Given the description of an element on the screen output the (x, y) to click on. 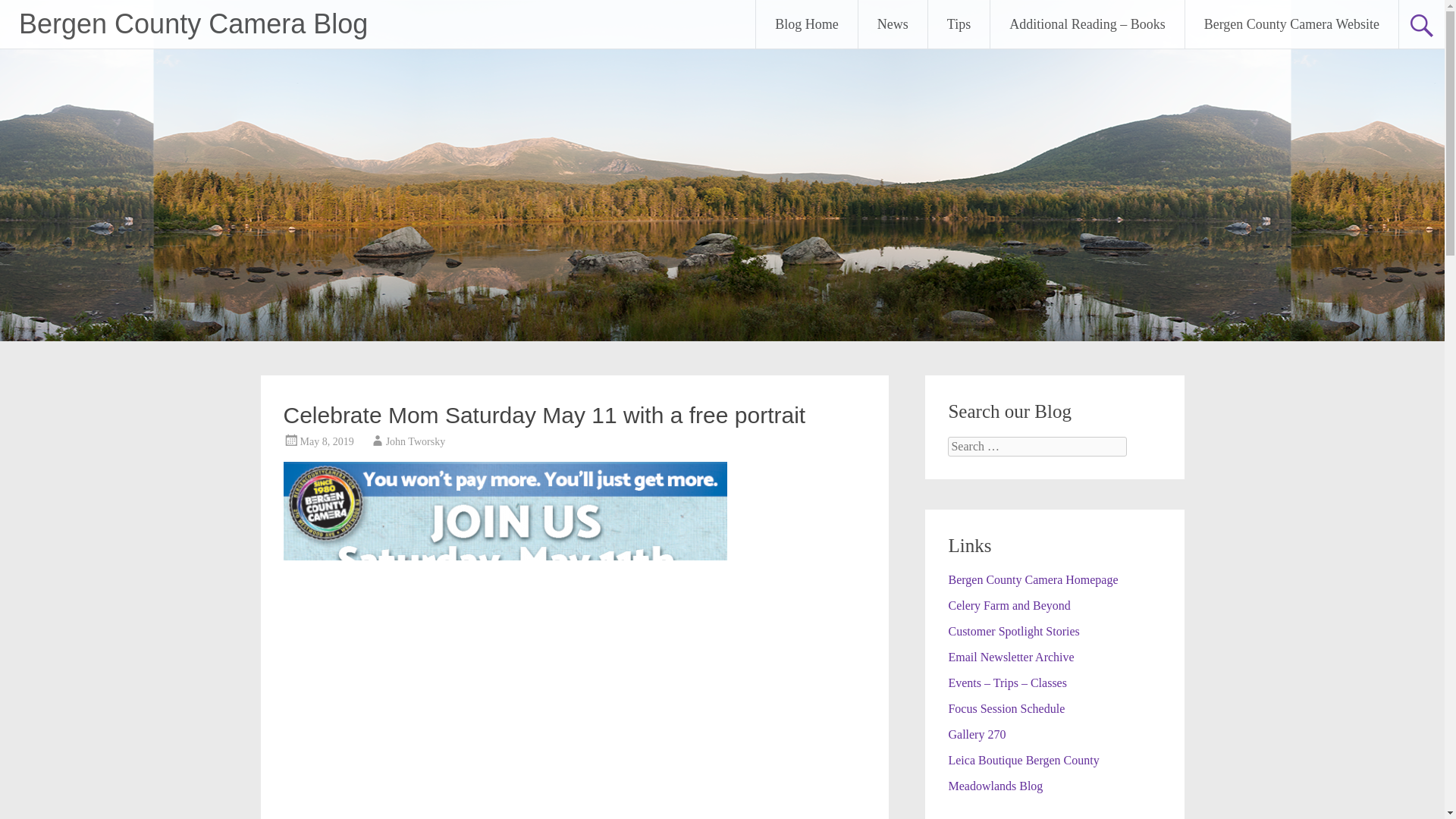
News (893, 24)
Tips (959, 24)
Customer Spotlight Stories (1012, 631)
Meadowlands Blog (994, 785)
Blog Home (806, 24)
Leica Boutique Bergen County (1023, 759)
Gallery 270 at Bergen County Camera (976, 734)
Celery Farm and Beyond Blog (1008, 604)
Focus Session Schedule (1005, 707)
Bergen County Camera (1032, 579)
